Given the description of an element on the screen output the (x, y) to click on. 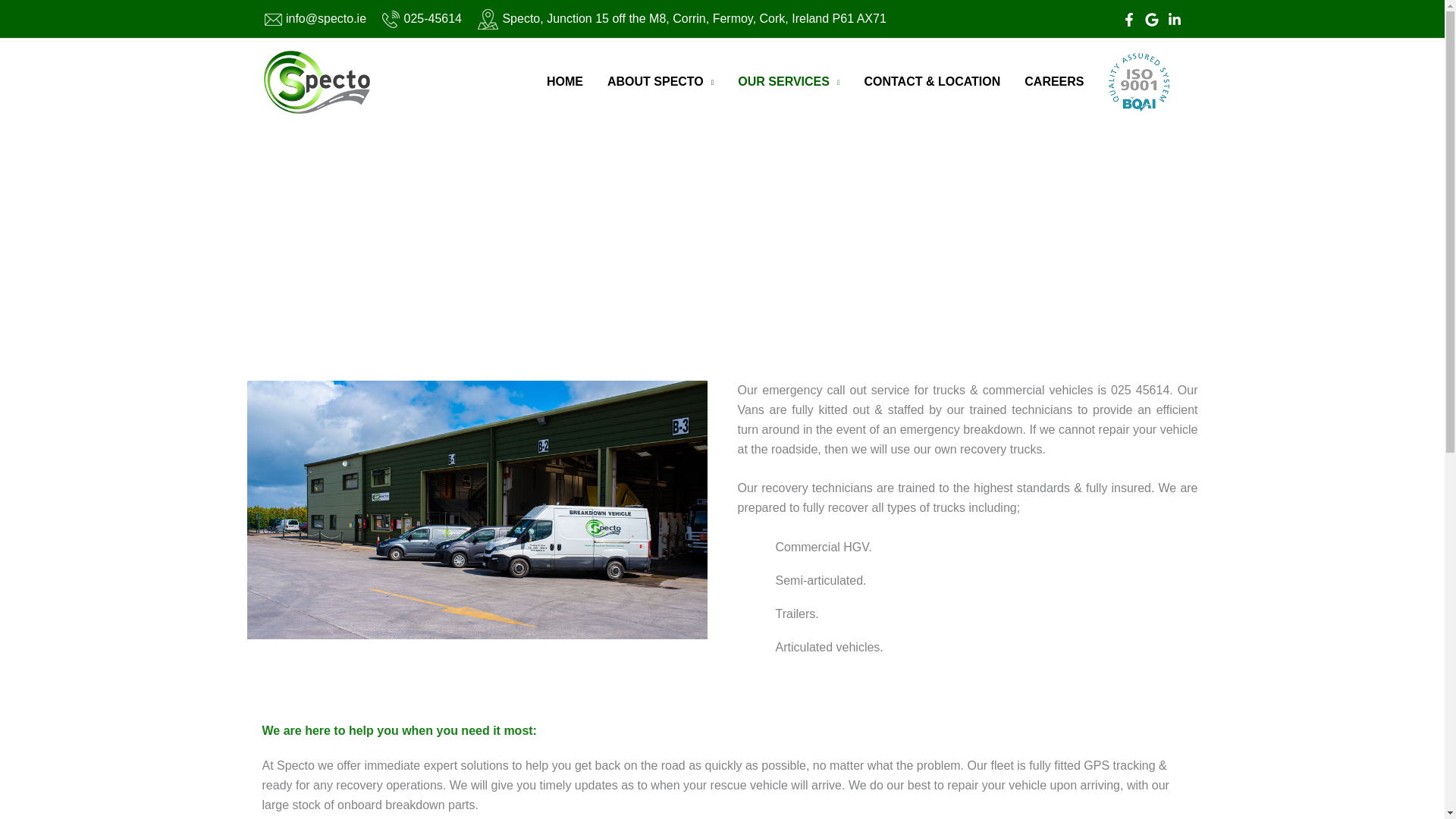
ABOUT SPECTO (660, 81)
OUR SERVICES (788, 81)
025-45614 (421, 18)
CAREERS (1053, 81)
HOME (564, 81)
